Given the description of an element on the screen output the (x, y) to click on. 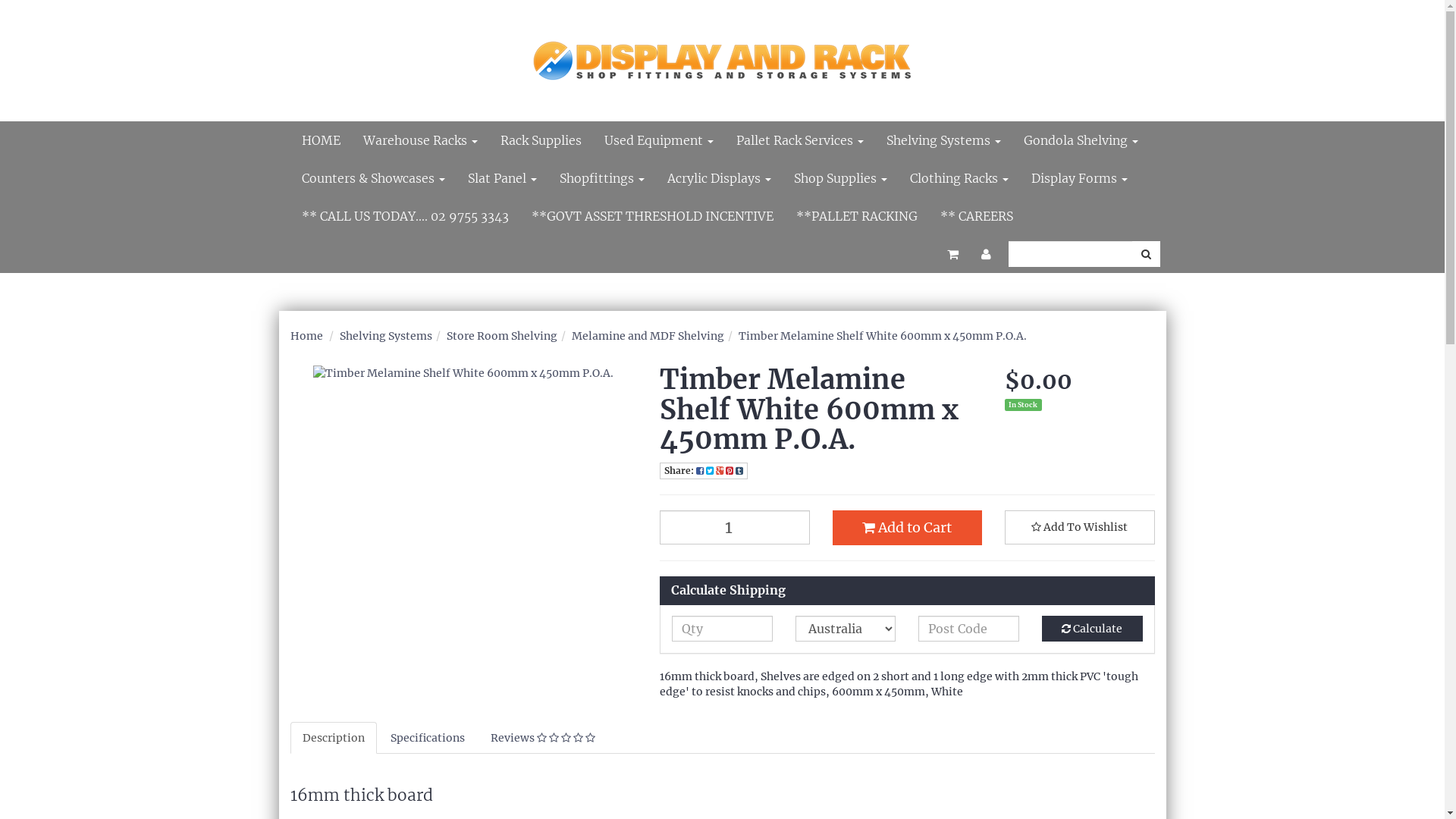
HOME Element type: text (320, 140)
**GOVT ASSET THRESHOLD INCENTIVE Element type: text (652, 216)
Melamine and MDF Shelving Element type: text (647, 335)
Display Forms Element type: text (1078, 178)
Home Element type: text (305, 335)
Calculate Element type: text (1091, 628)
Clothing Racks Element type: text (958, 178)
Share: Element type: text (703, 470)
Reviews Element type: text (541, 737)
Search Element type: text (1145, 253)
Add To Wishlist Element type: text (1079, 527)
Shelving Systems Element type: text (943, 140)
Specifications Element type: text (426, 737)
Shop Supplies Element type: text (840, 178)
** CALL US TODAY.... 02 9755 3343 Element type: text (404, 216)
Used Equipment Element type: text (658, 140)
Shelving Systems Element type: text (385, 335)
Display and Rack Australia Element type: hover (722, 52)
Store Room Shelving Element type: text (500, 335)
Shopfittings Element type: text (601, 178)
Gondola Shelving Element type: text (1079, 140)
Pallet Rack Services Element type: text (799, 140)
Description Element type: text (332, 737)
Acrylic Displays Element type: text (718, 178)
Add to Cart Element type: text (907, 527)
Counters & Showcases Element type: text (372, 178)
Timber Melamine Shelf White 600mm x 450mm P.O.A. Element type: text (882, 335)
**PALLET RACKING Element type: text (856, 216)
Rack Supplies Element type: text (540, 140)
Slat Panel Element type: text (502, 178)
Warehouse Racks Element type: text (420, 140)
** CAREERS Element type: text (975, 216)
